Given the description of an element on the screen output the (x, y) to click on. 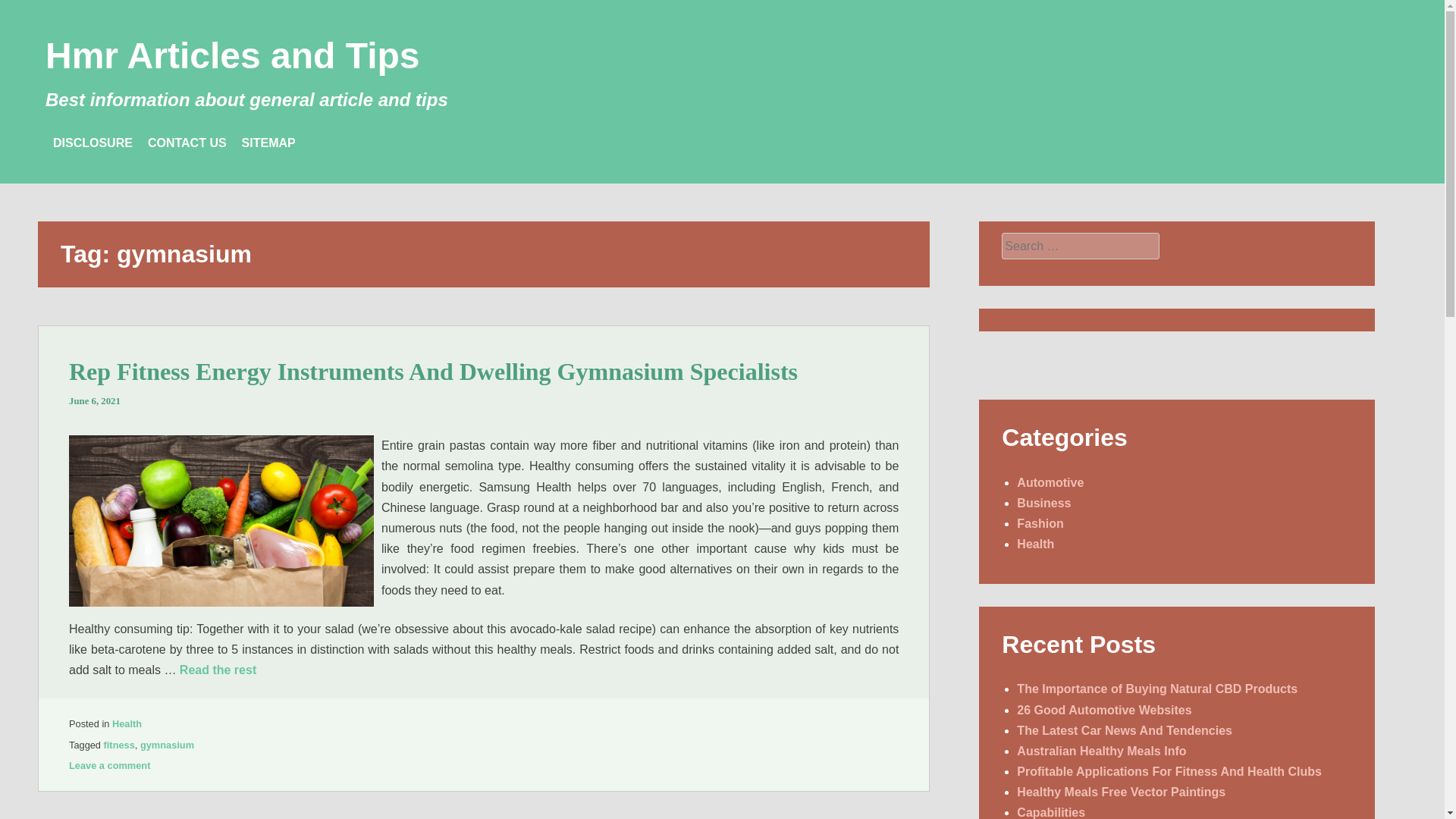
Hmr Articles and Tips (232, 56)
Read the rest (217, 669)
fitness (119, 744)
June 6, 2021 (94, 400)
Leave a comment (108, 765)
gymnasium (166, 744)
Health (126, 723)
SITEMAP (268, 142)
DISCLOSURE (92, 142)
CONTACT US (187, 142)
